Given the description of an element on the screen output the (x, y) to click on. 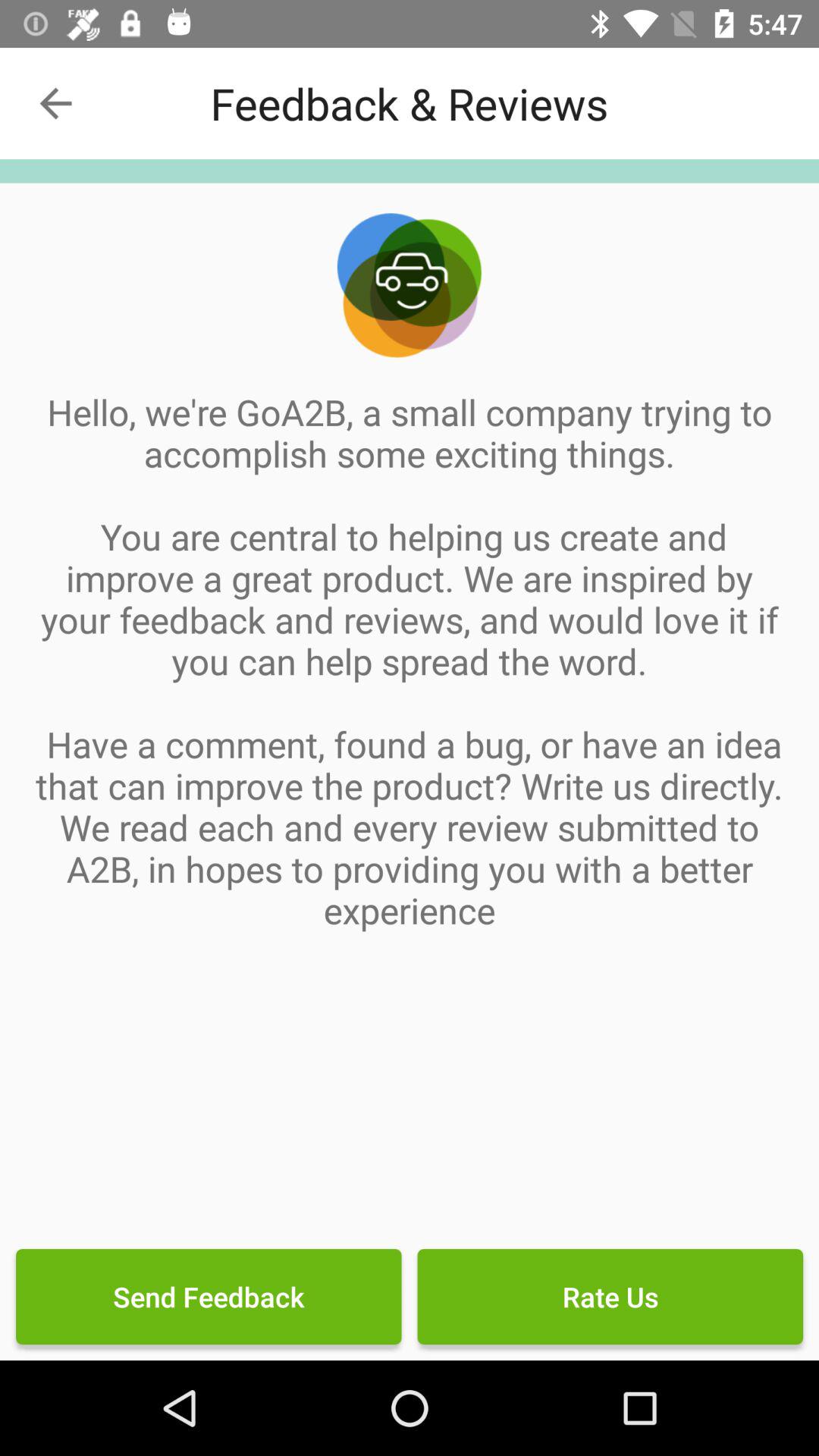
select item below the hello we re item (610, 1296)
